Given the description of an element on the screen output the (x, y) to click on. 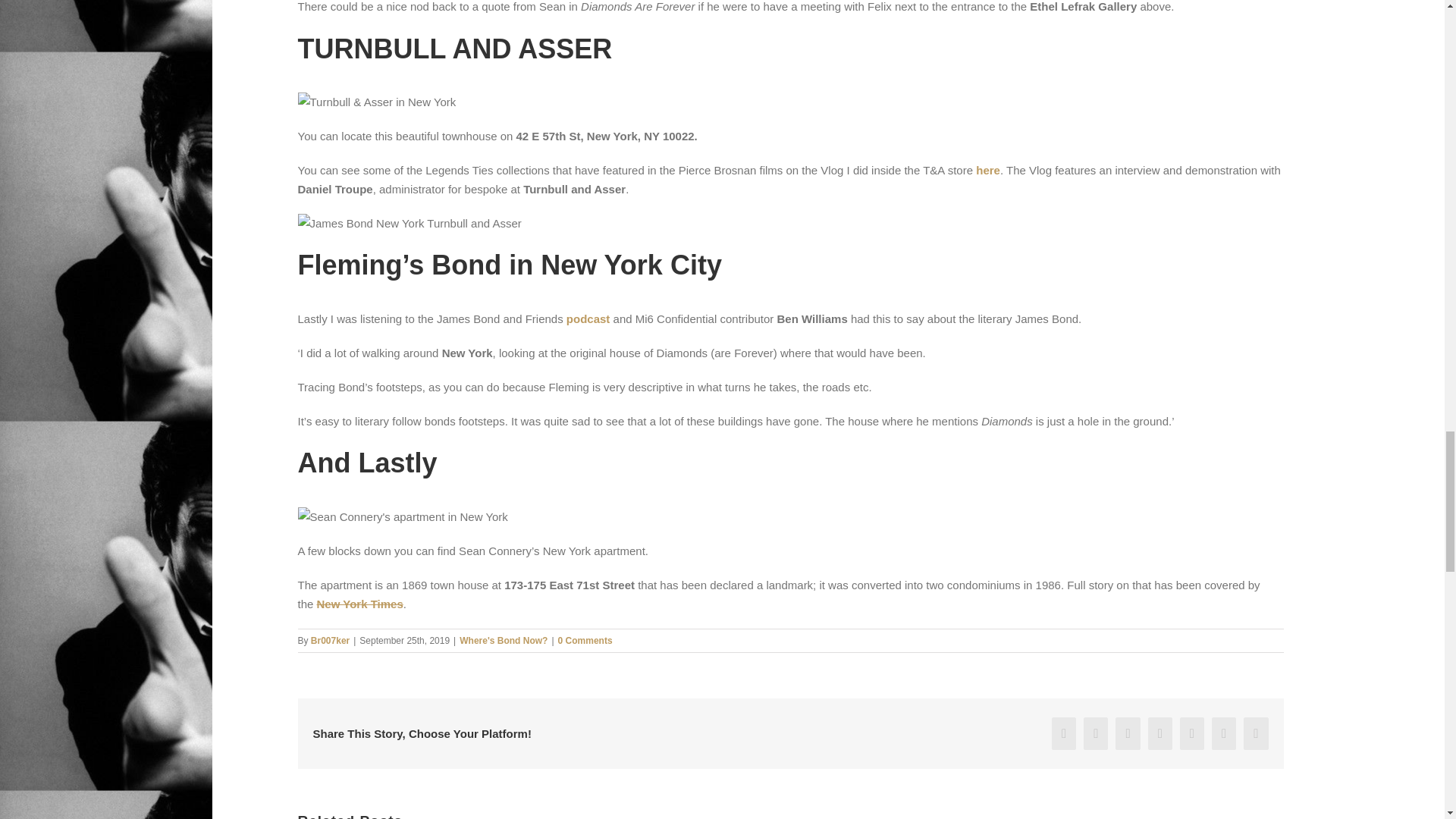
Where's Bond Now? (503, 640)
Posts by Br007ker (330, 640)
here (987, 169)
Br007ker (330, 640)
New York Times (360, 603)
0 Comments (584, 640)
podcast (588, 318)
